Given the description of an element on the screen output the (x, y) to click on. 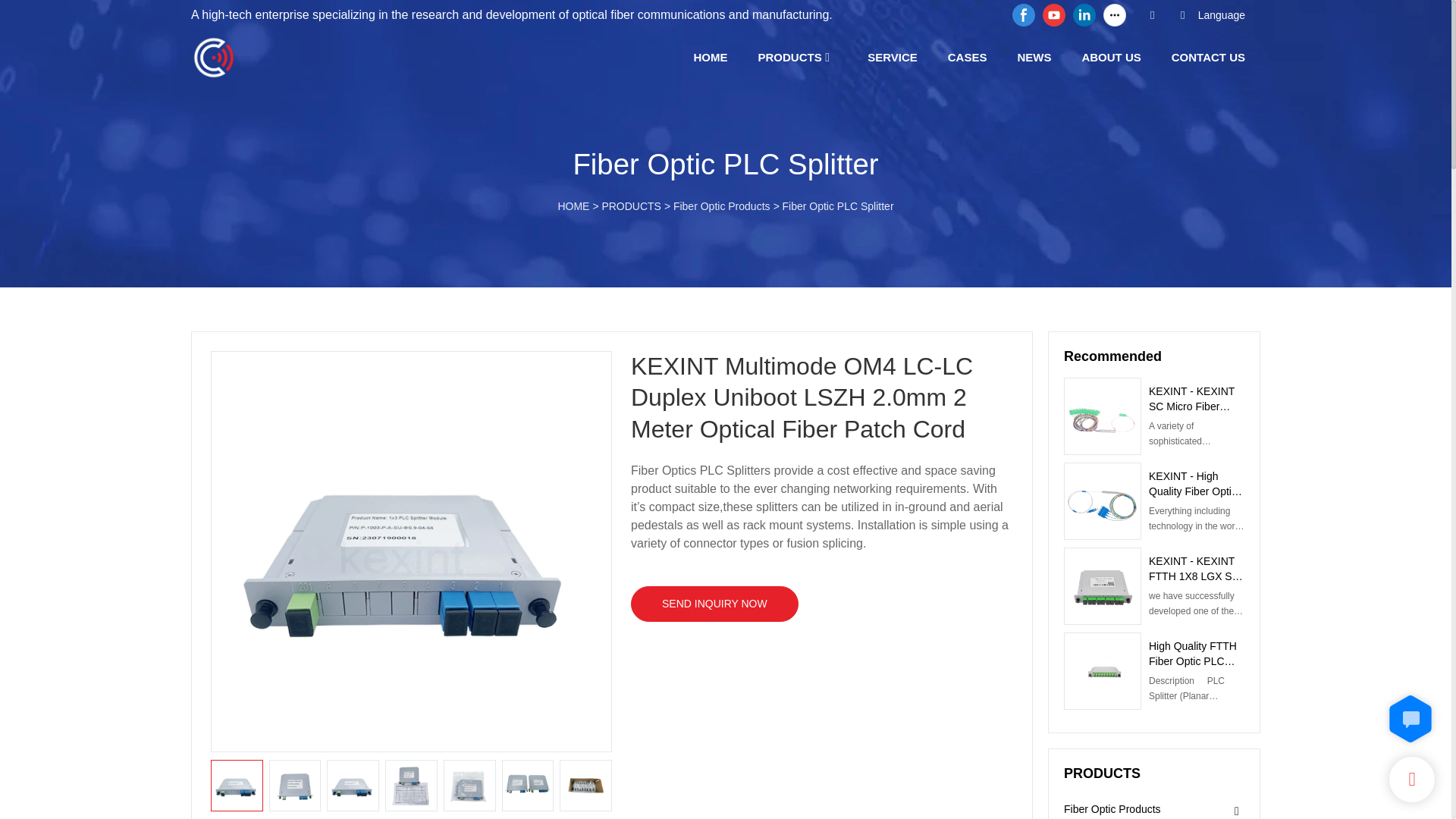
linkedin (1083, 15)
facebook (1024, 15)
SERVICE (892, 56)
HOME (711, 56)
youtube (1053, 15)
PRODUCTS (790, 56)
